Given the description of an element on the screen output the (x, y) to click on. 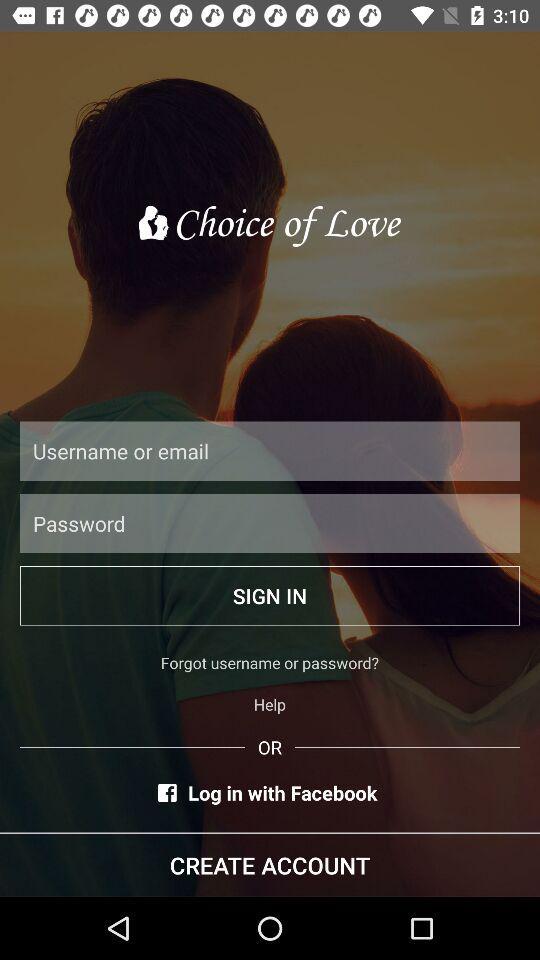
enter username or email (269, 450)
